Given the description of an element on the screen output the (x, y) to click on. 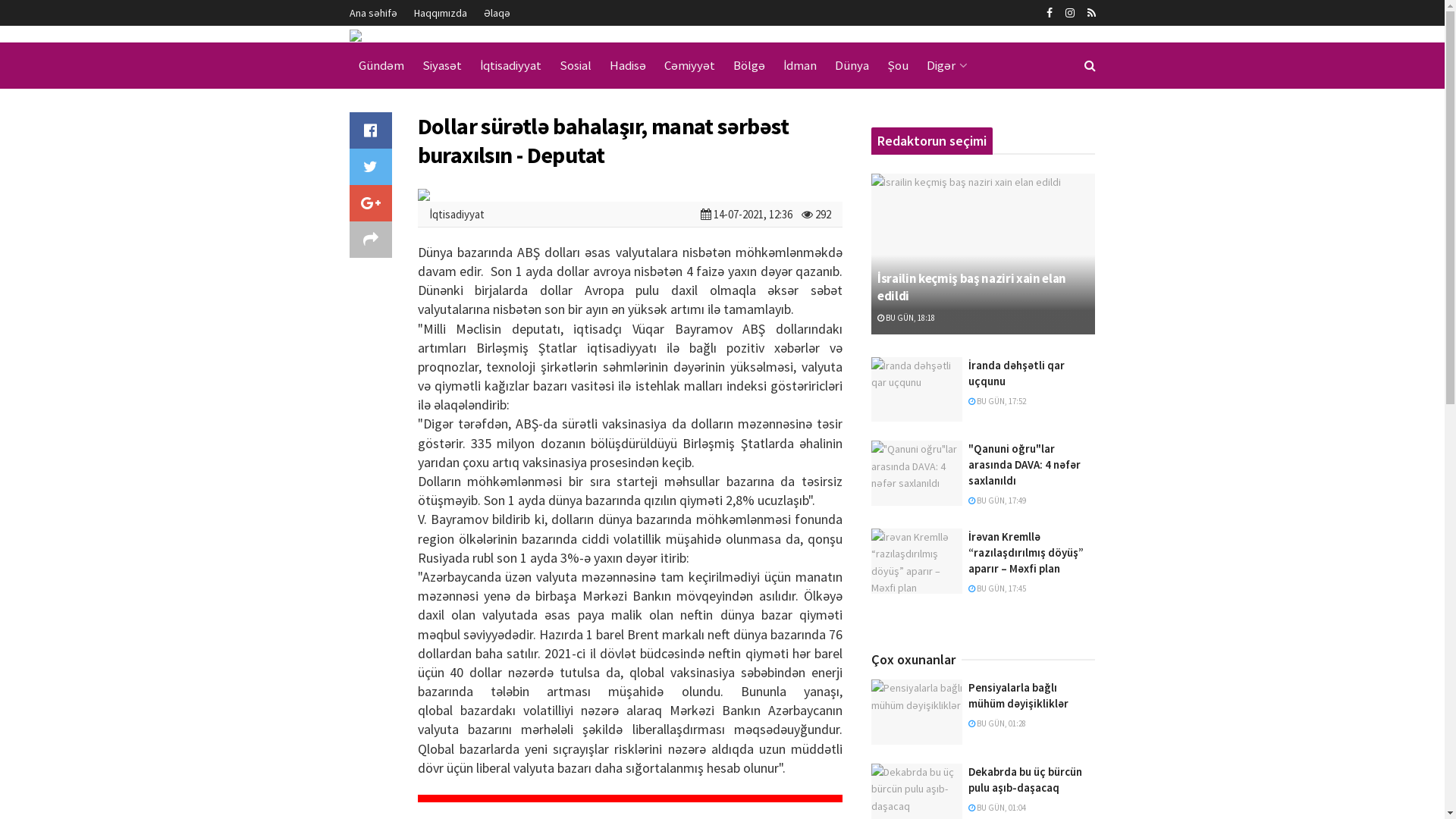
Sosial Element type: text (575, 65)
